Given the description of an element on the screen output the (x, y) to click on. 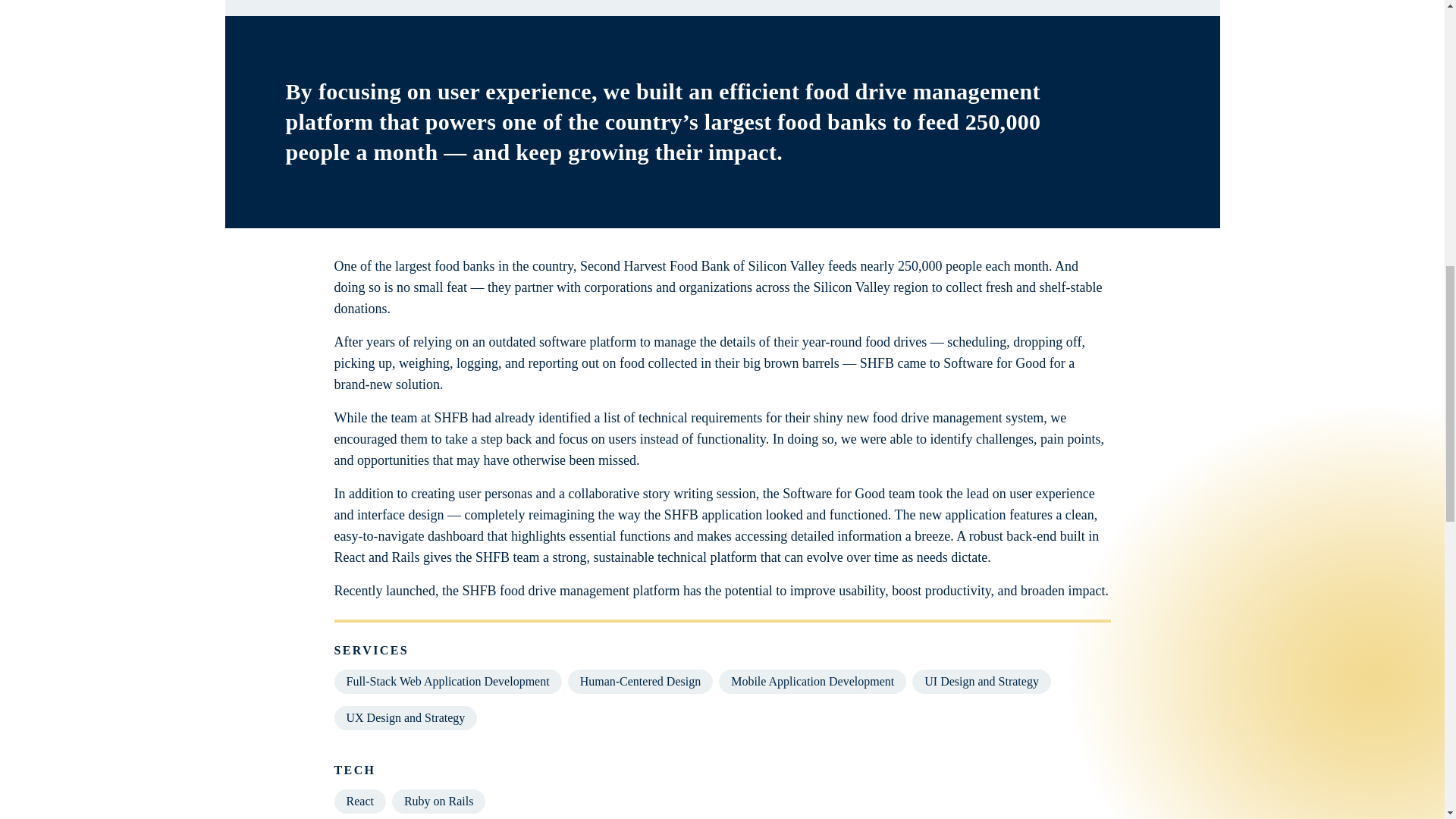
Ruby on Rails (438, 801)
Full-Stack Web Application Development (446, 681)
UX Design and Strategy (405, 717)
UI Design and Strategy (981, 681)
React (359, 801)
Human-Centered Design (640, 681)
Mobile Application Development (812, 681)
